Given the description of an element on the screen output the (x, y) to click on. 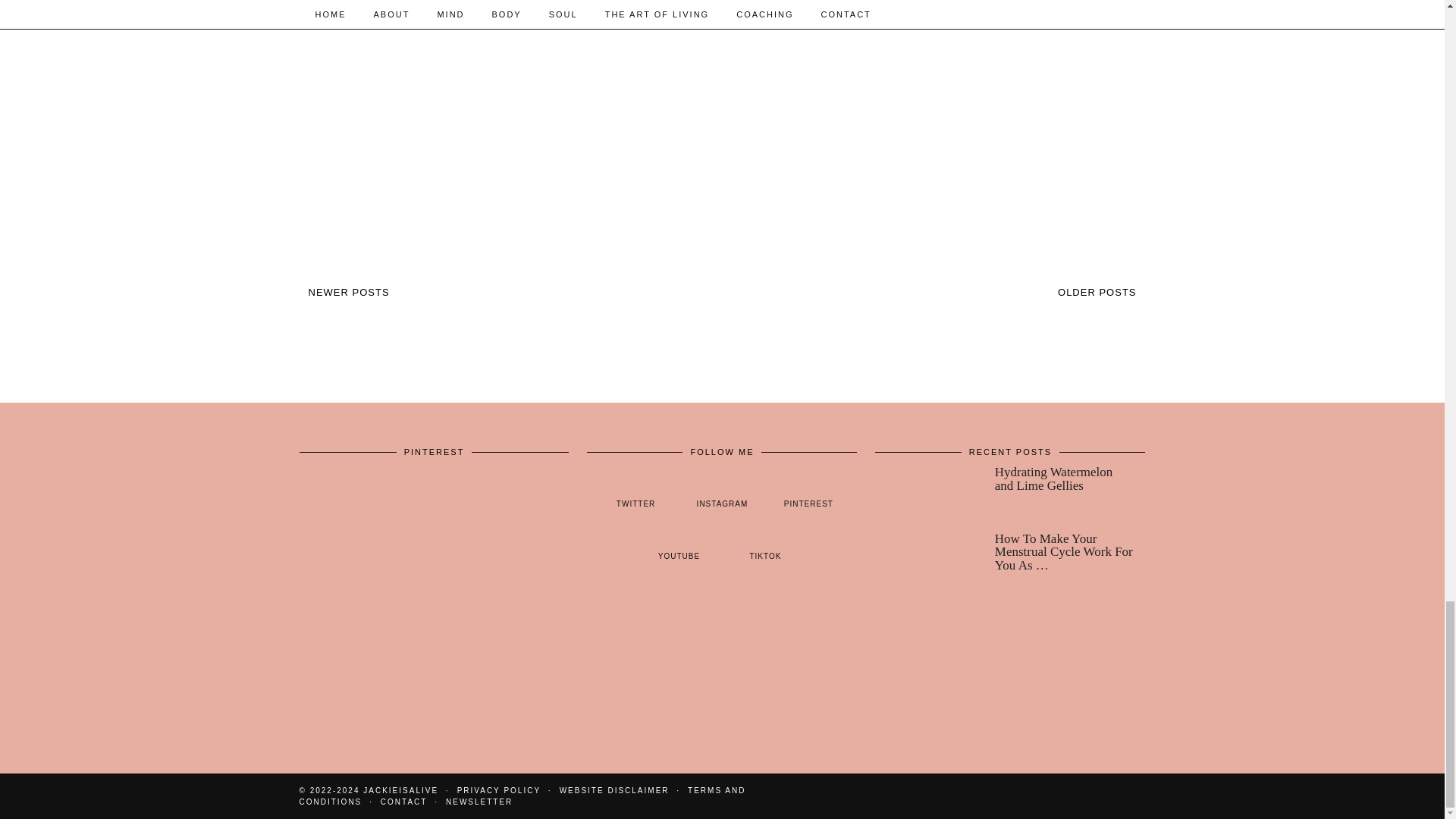
OLDER POSTS (1096, 292)
Things I Loved: June 2023 (721, 129)
NEWER POSTS (347, 292)
